Given the description of an element on the screen output the (x, y) to click on. 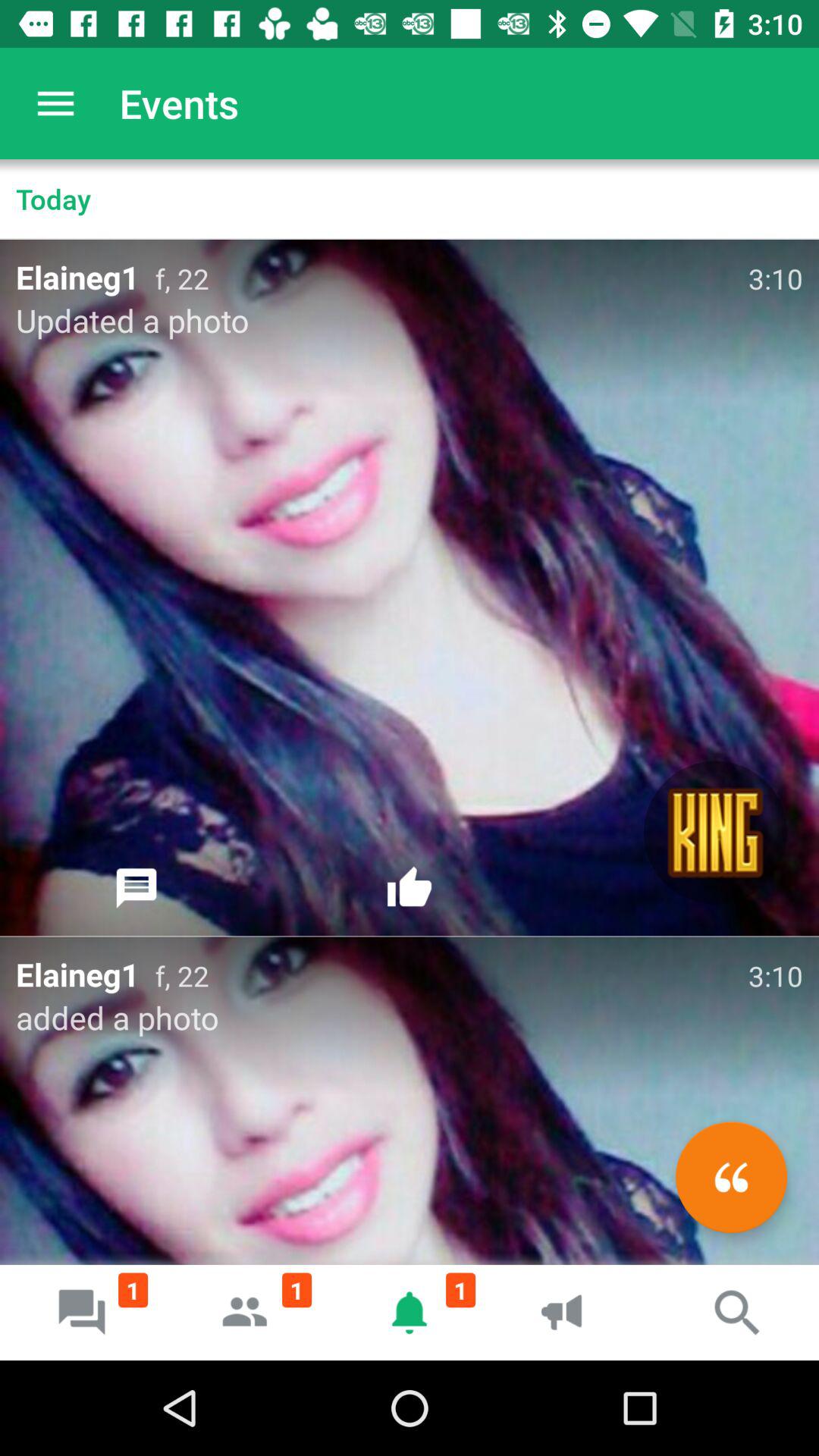
select item on the right (715, 832)
